Given the description of an element on the screen output the (x, y) to click on. 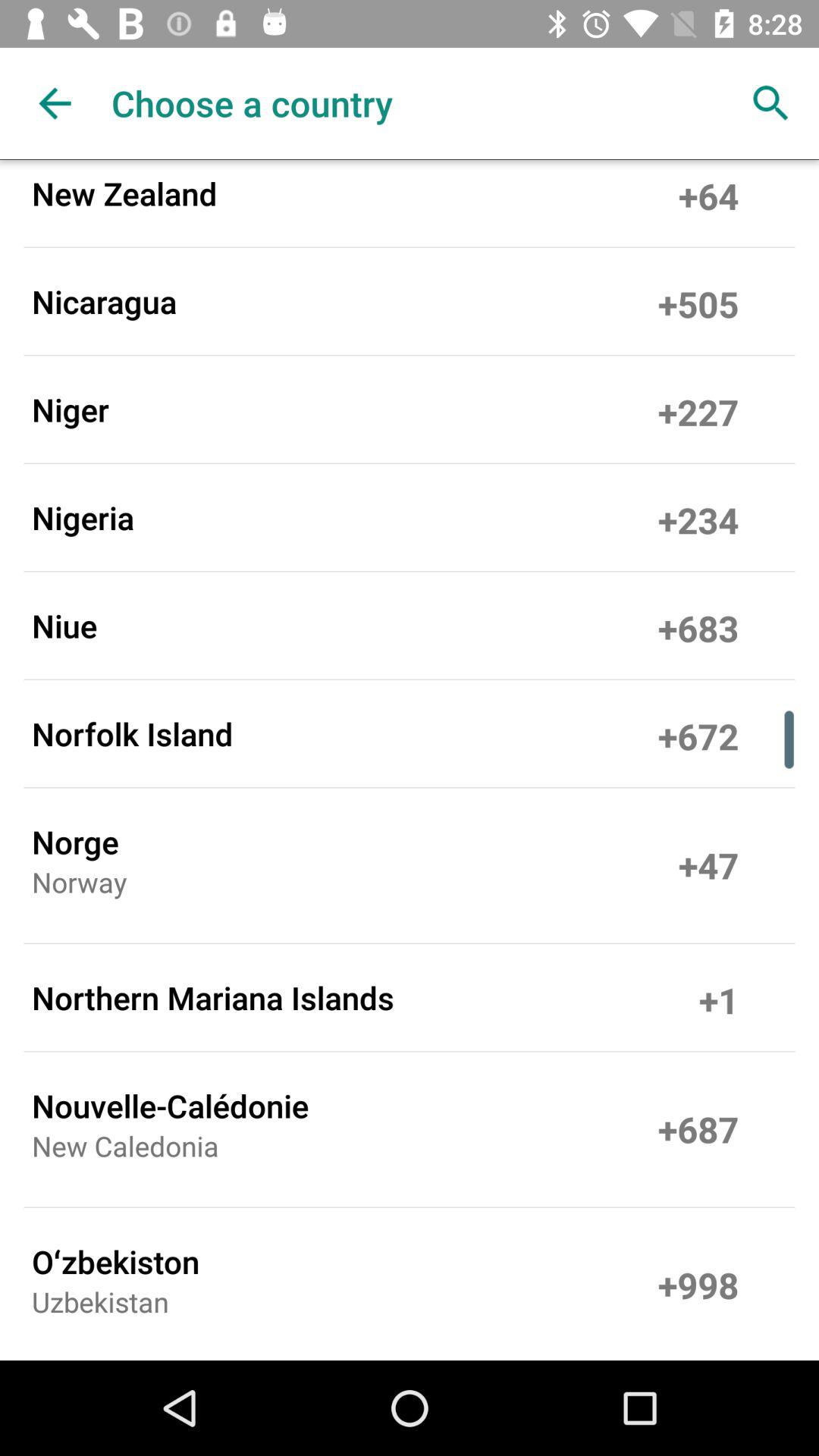
open item above the +683 (698, 517)
